Given the description of an element on the screen output the (x, y) to click on. 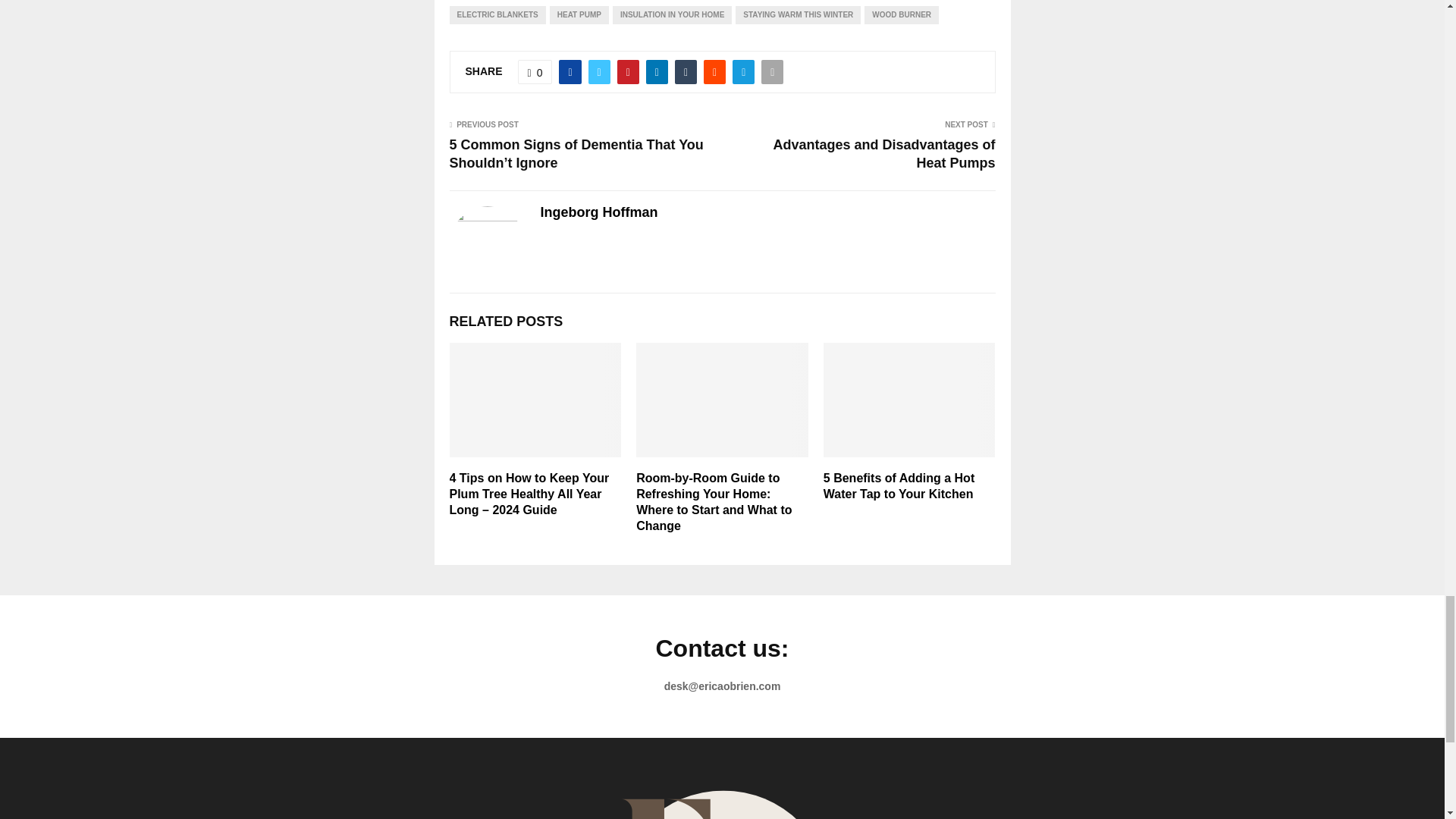
HEAT PUMP (579, 14)
ELECTRIC BLANKETS (496, 14)
INSULATION IN YOUR HOME (672, 14)
Like (535, 71)
